Given the description of an element on the screen output the (x, y) to click on. 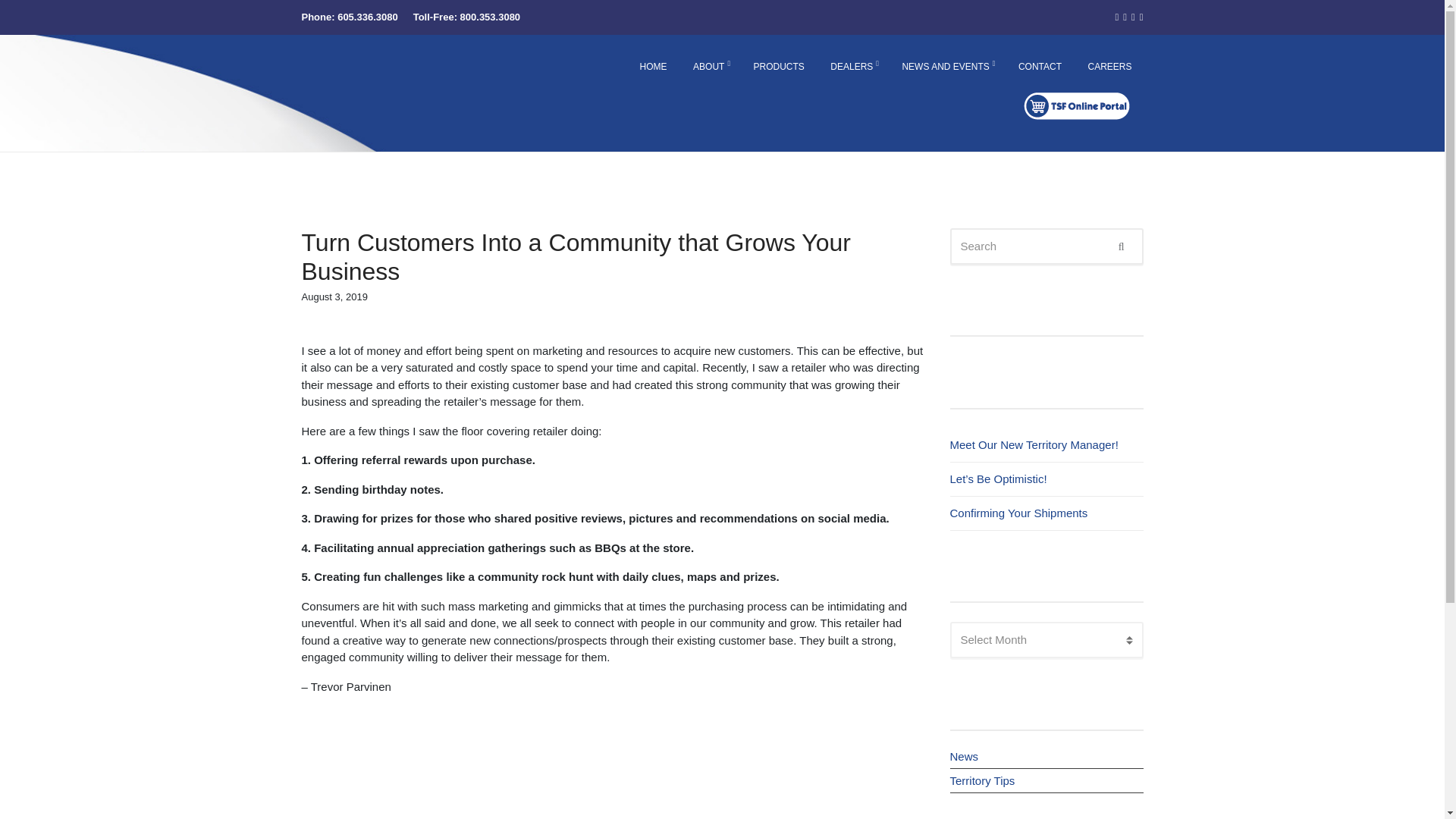
ABOUT (709, 66)
DEALERS (852, 66)
PRODUCTS (779, 66)
HOME (653, 66)
